Given the description of an element on the screen output the (x, y) to click on. 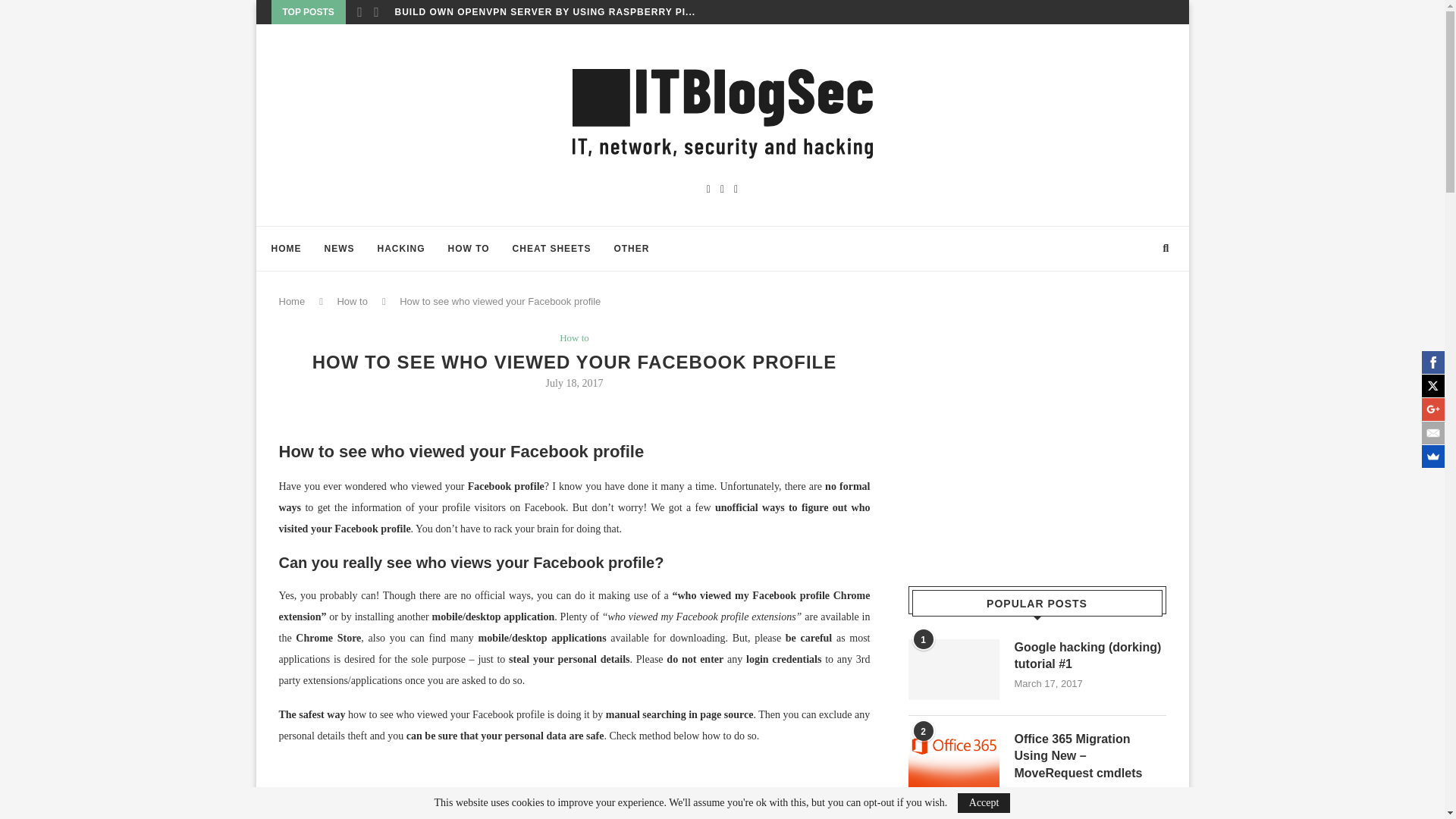
CHEAT SHEETS (551, 248)
HOW TO (467, 248)
Advertisement (574, 789)
HACKING (401, 248)
BUILD OWN OPENVPN SERVER BY USING RASPBERRY PI... (544, 12)
